Given the description of an element on the screen output the (x, y) to click on. 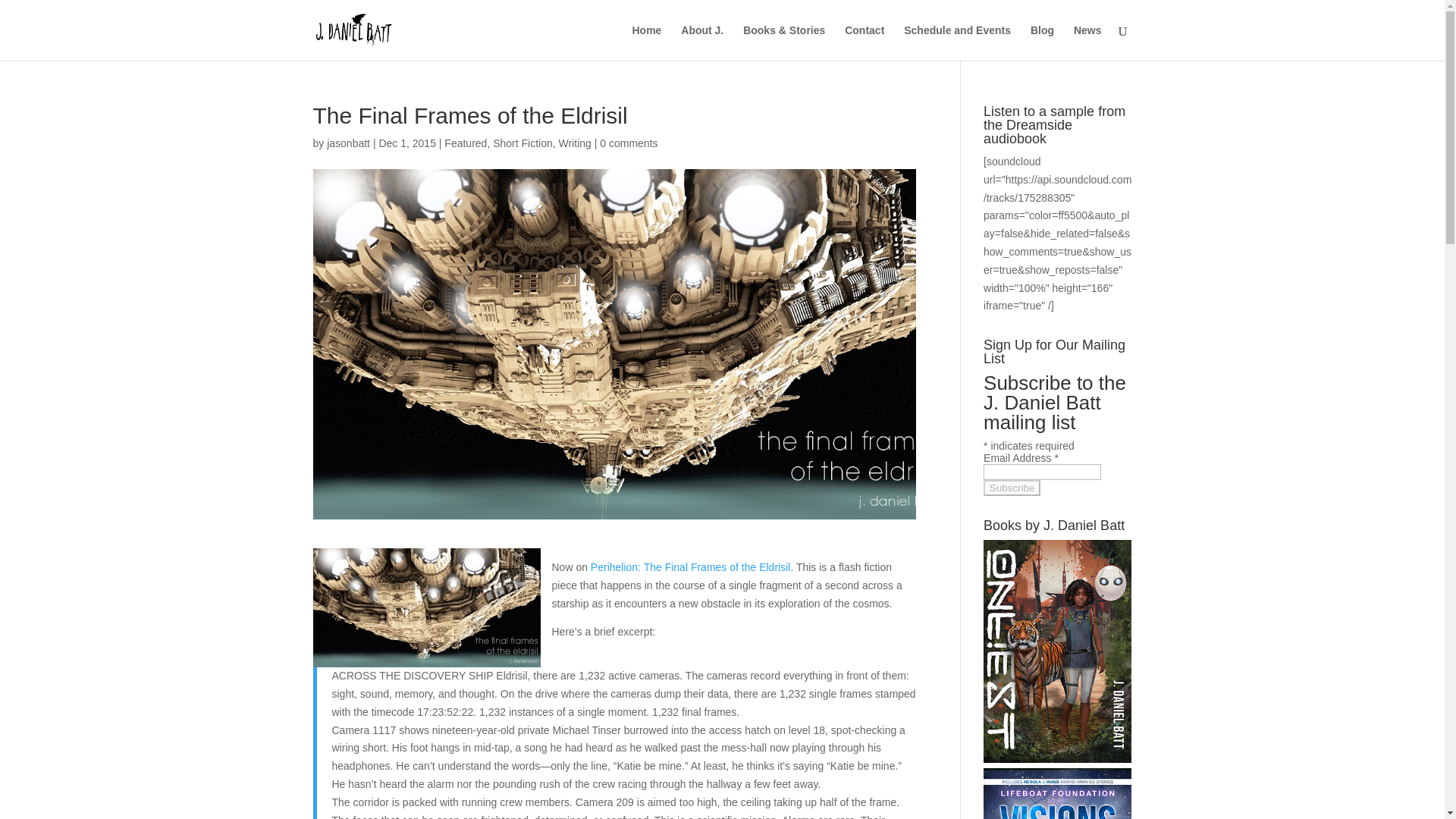
About J. (702, 42)
Featured (465, 143)
Schedule and Events (957, 42)
Contact (863, 42)
Short Fiction (523, 143)
0 comments (628, 143)
Perihelion: The Final Frames of the Eldrisil (690, 567)
jasonbatt (347, 143)
Writing (575, 143)
Subscribe (1012, 487)
Posts by jasonbatt (347, 143)
Subscribe (1012, 487)
